Given the description of an element on the screen output the (x, y) to click on. 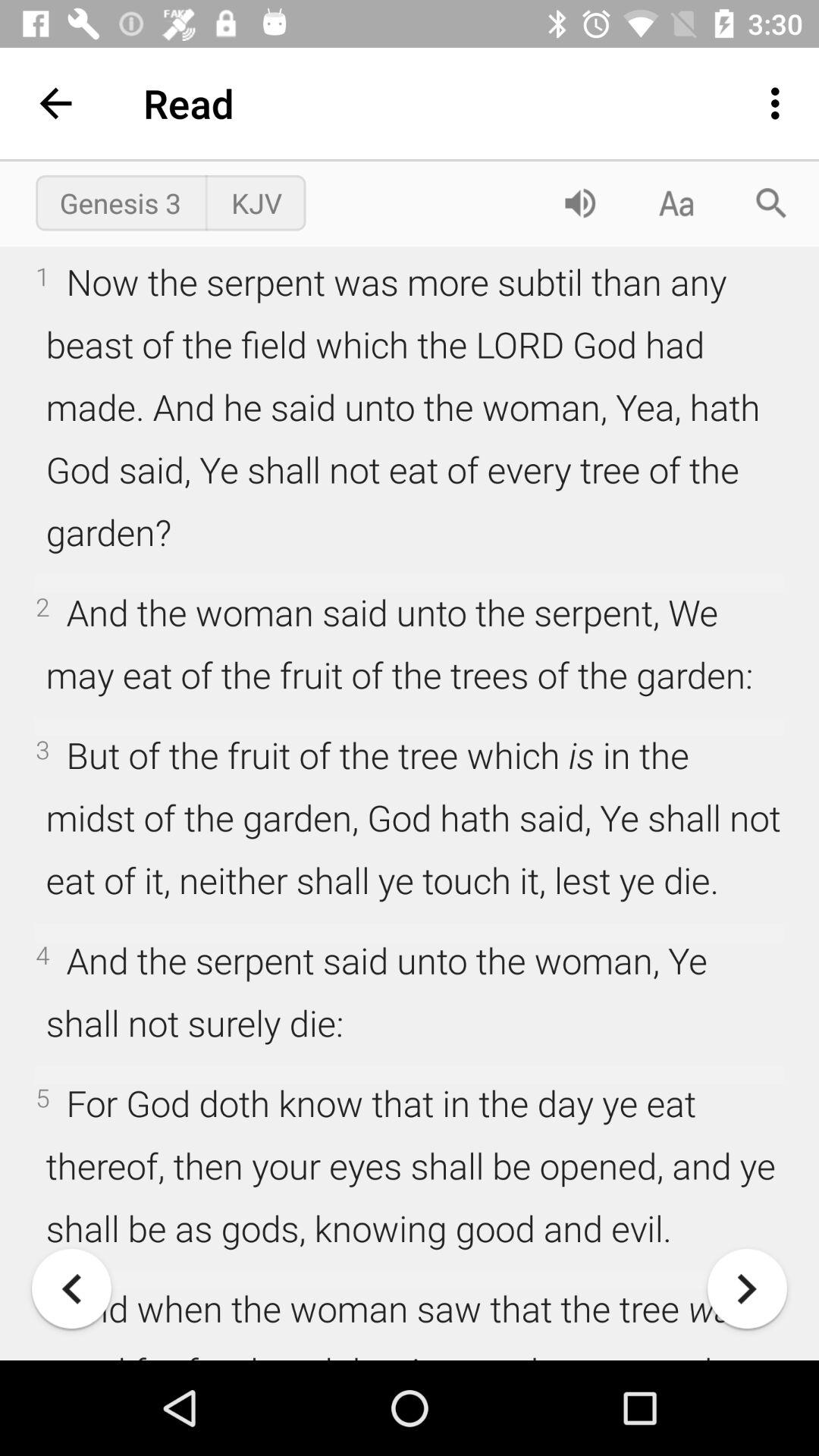
tap item to the right of the kjv (579, 202)
